Given the description of an element on the screen output the (x, y) to click on. 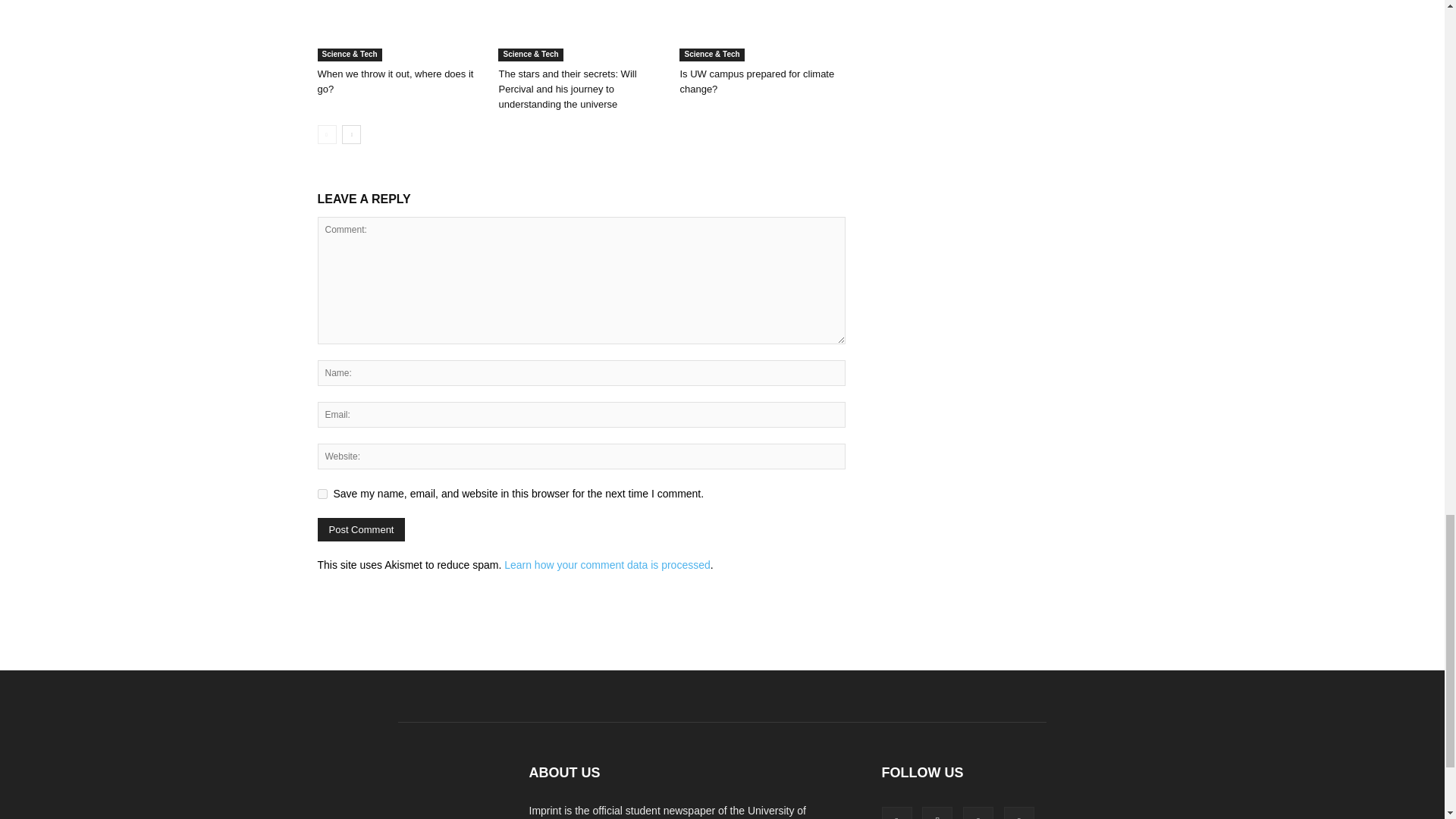
Post Comment (360, 529)
yes (321, 493)
